Given the description of an element on the screen output the (x, y) to click on. 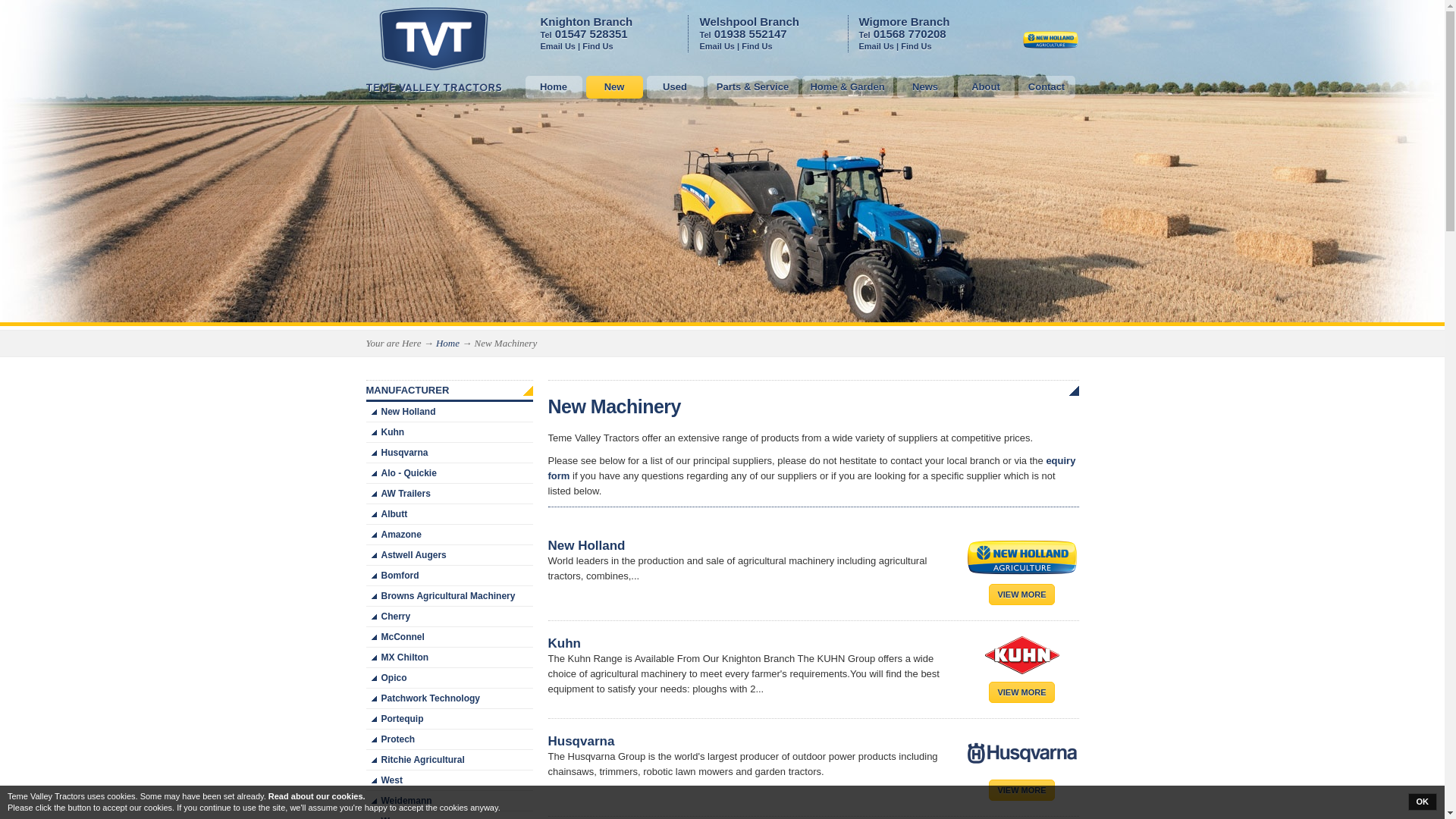
Find Us (756, 45)
Teme Valley Tractors (433, 49)
New Holland (1050, 45)
Find Us (597, 45)
Email Us (557, 45)
OK (1422, 801)
Email Us (876, 45)
Home and Garden (847, 87)
New Holland (1050, 39)
Email Us (715, 45)
Find Us (916, 45)
Parts and Service (751, 87)
Used (674, 87)
Home (552, 87)
Latest News (924, 87)
